Given the description of an element on the screen output the (x, y) to click on. 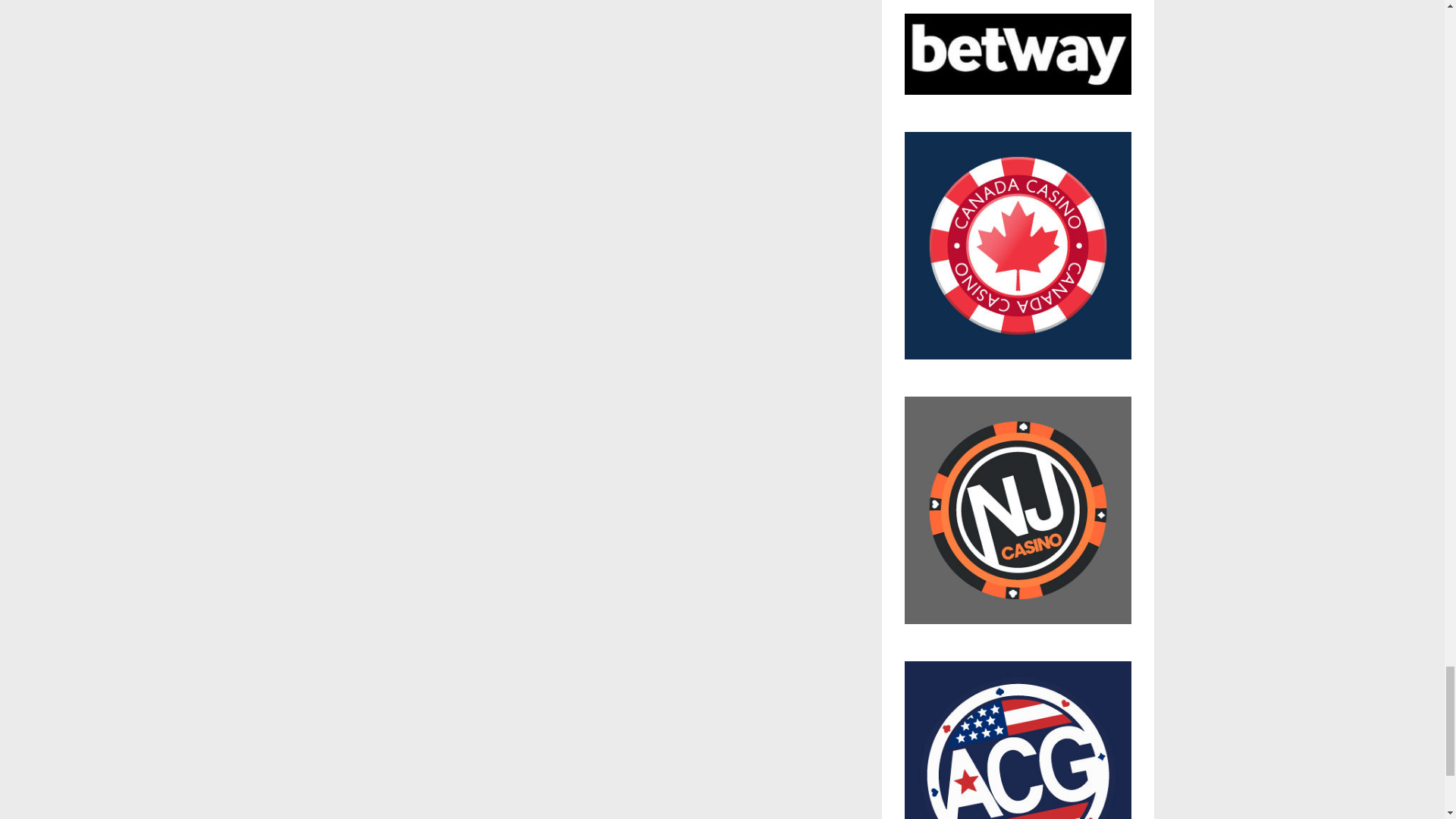
acg casino (1017, 739)
nj casino (1017, 517)
canada casino (1017, 252)
